Given the description of an element on the screen output the (x, y) to click on. 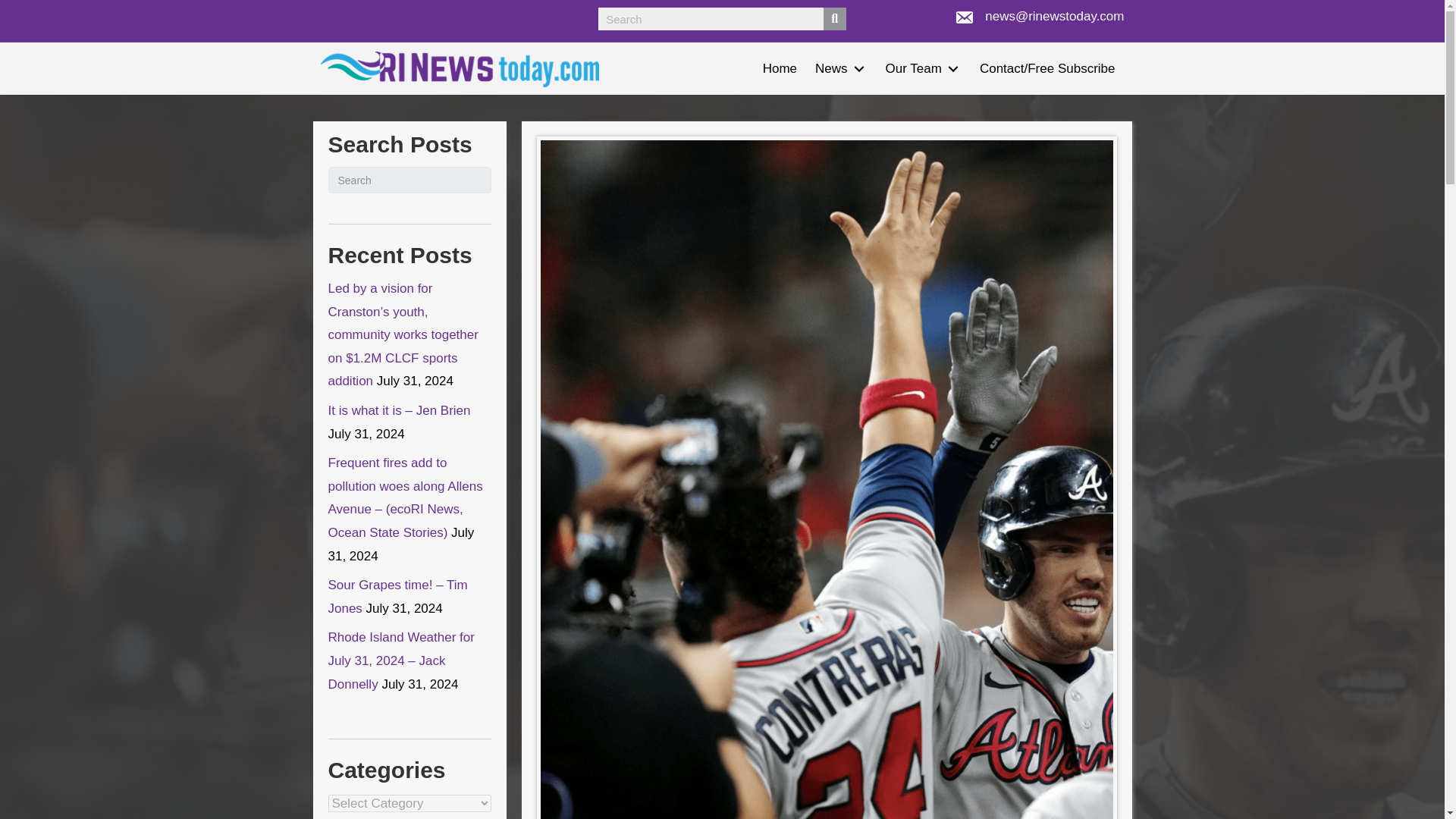
Our Team (923, 68)
Search (711, 18)
Home (780, 68)
RI News Today (459, 68)
Type and press Enter to search. (408, 180)
News (841, 68)
